Given the description of an element on the screen output the (x, y) to click on. 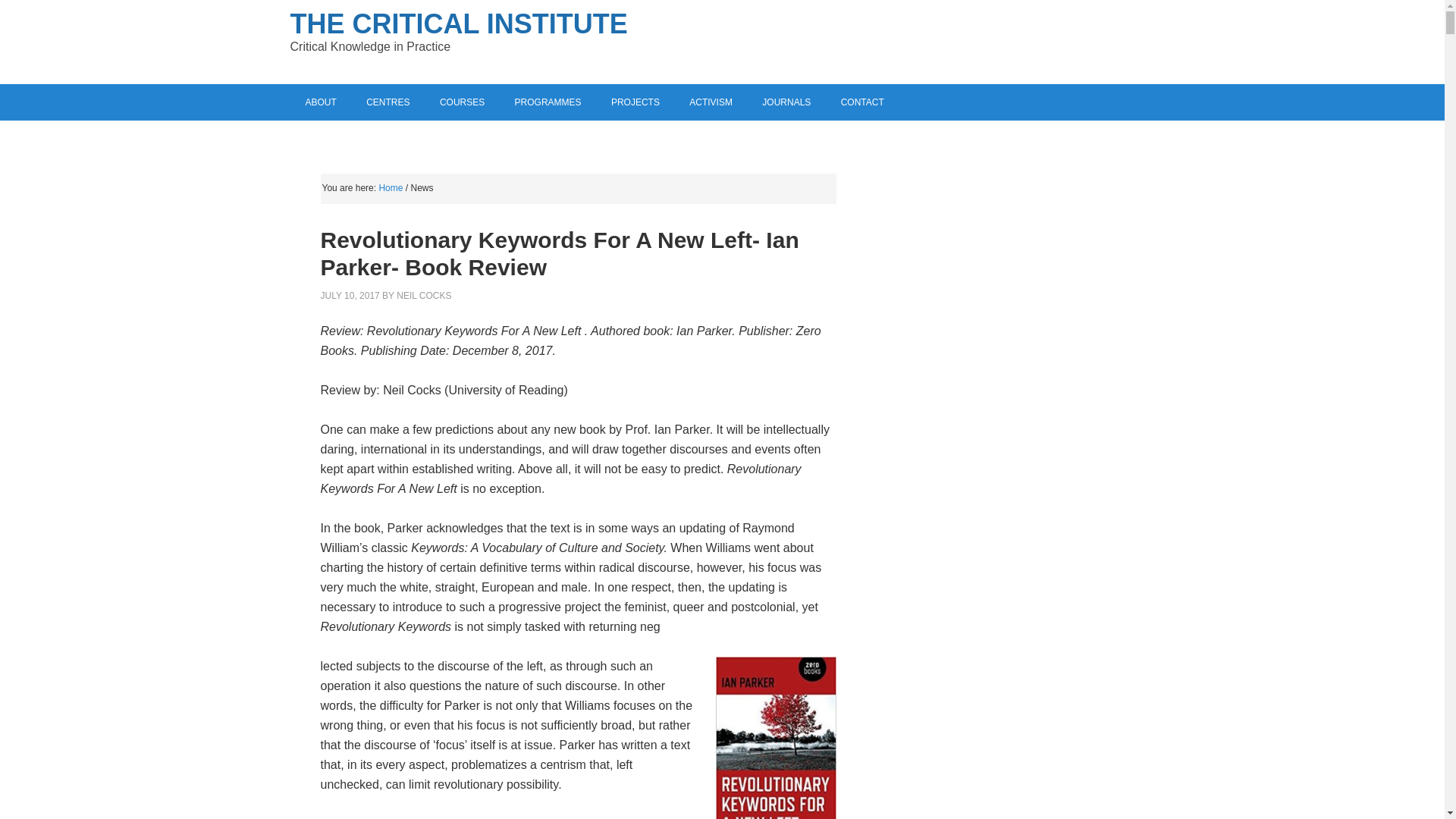
PROJECTS (635, 102)
PROGRAMMES (547, 102)
CONTACT (862, 102)
COURSES (462, 102)
THE CRITICAL INSTITUTE (458, 23)
Home (390, 187)
CENTRES (387, 102)
ACTIVISM (711, 102)
NEIL COCKS (423, 294)
ABOUT (319, 102)
JOURNALS (785, 102)
